Given the description of an element on the screen output the (x, y) to click on. 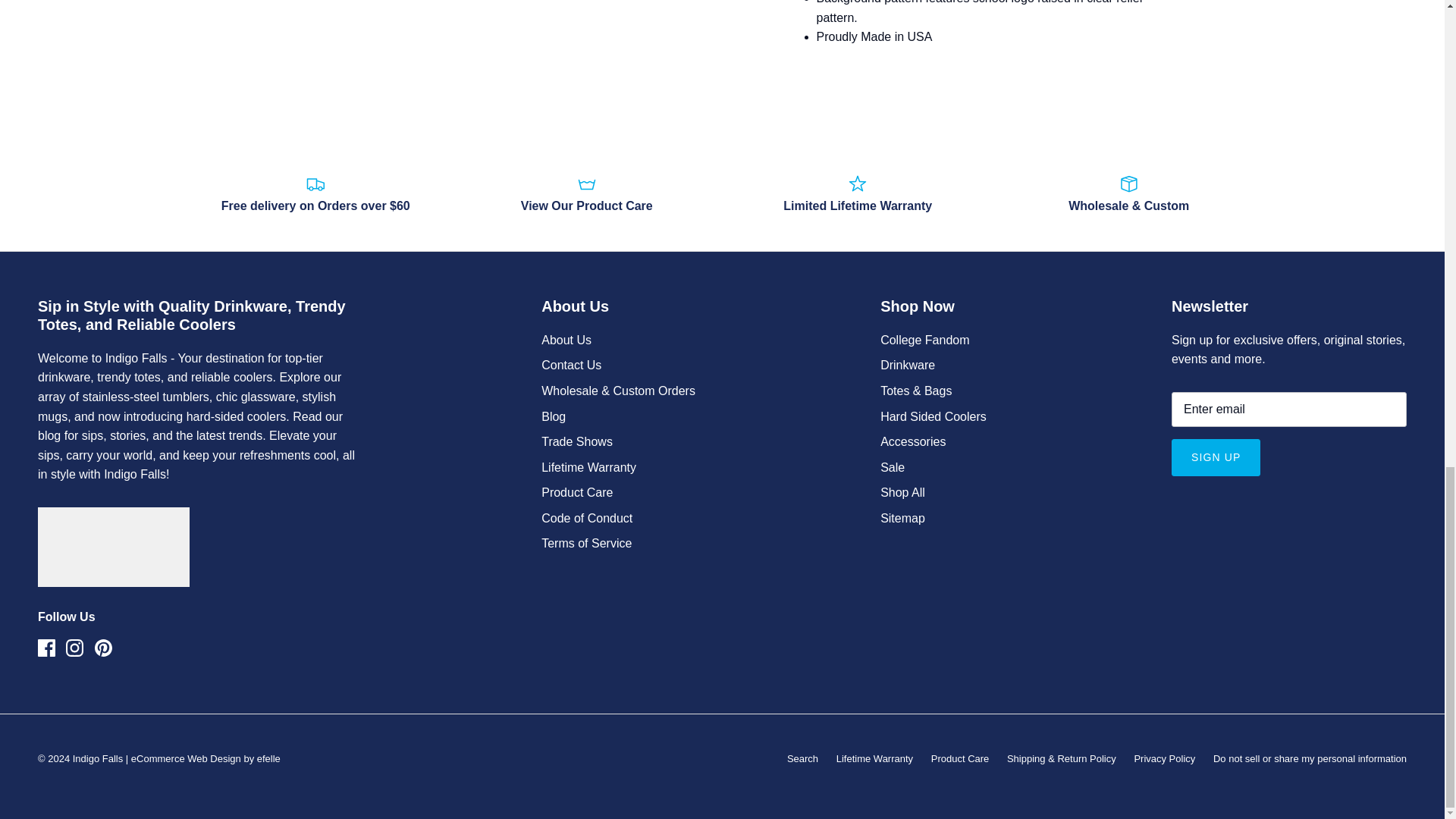
Instagram (73, 647)
eCommerce Web Design (186, 758)
Pinterest (103, 647)
Facebook (46, 647)
